Given the description of an element on the screen output the (x, y) to click on. 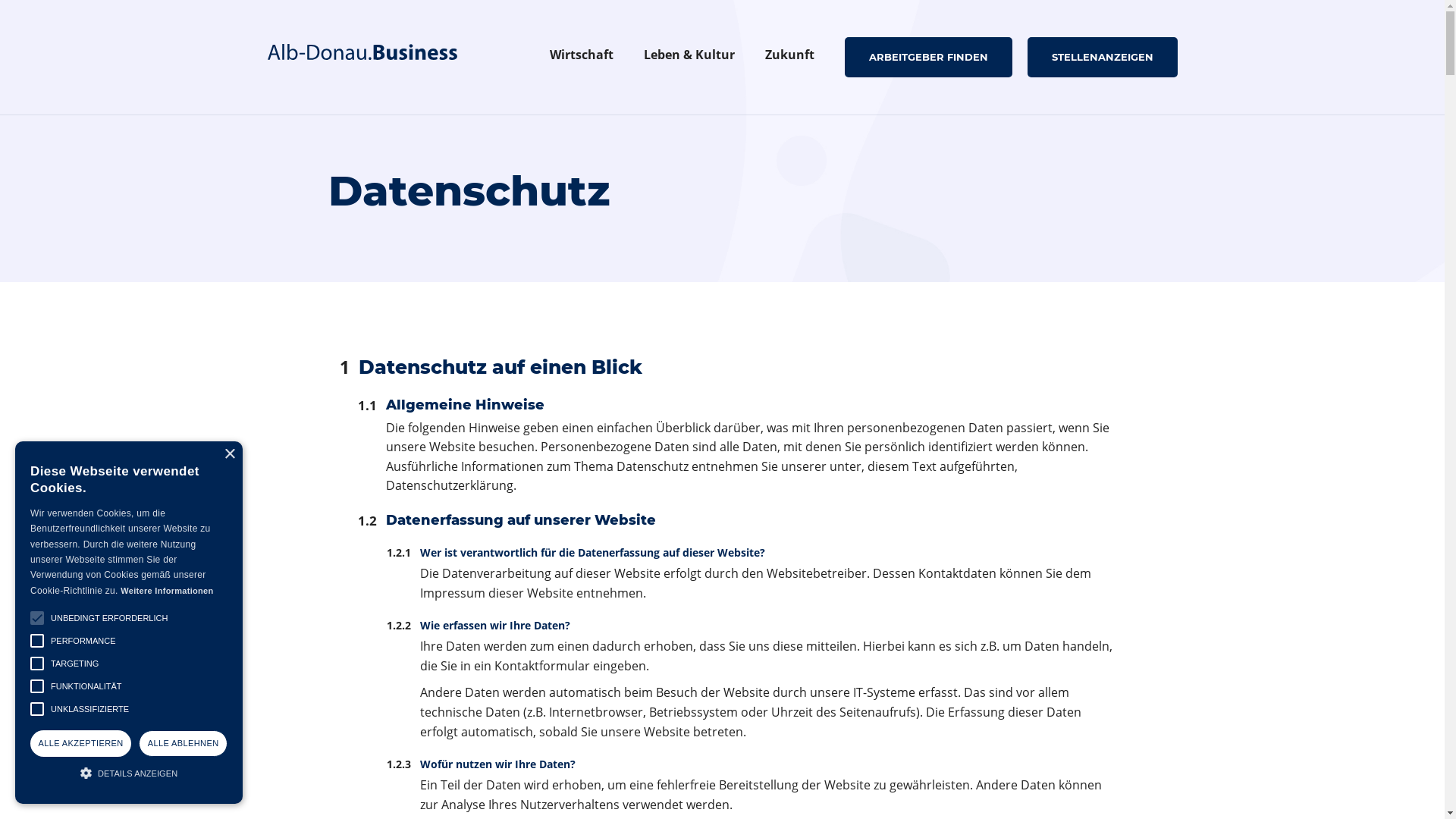
ARBEITGEBER FINDEN Element type: text (928, 56)
Wirtschaft Element type: text (580, 57)
Weitere Informationen Element type: text (166, 590)
Leben & Kultur Element type: text (688, 57)
STELLENANZEIGEN Element type: text (1101, 56)
Zukunft Element type: text (788, 57)
